Given the description of an element on the screen output the (x, y) to click on. 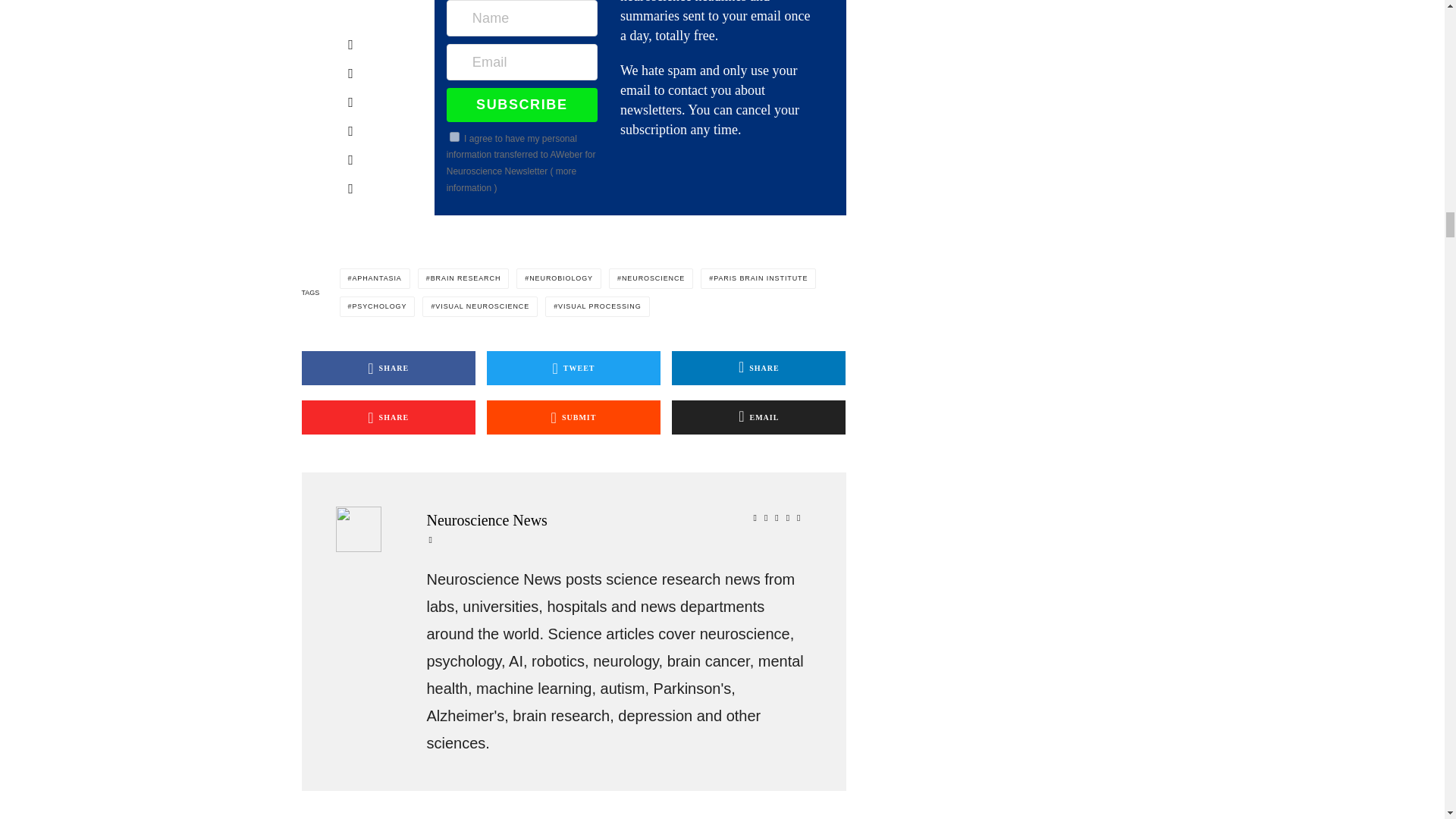
VISUAL NEUROSCIENCE (479, 306)
Neuroscience News (617, 519)
SHARE (388, 367)
NEUROBIOLOGY (558, 278)
PSYCHOLOGY (376, 306)
PARIS BRAIN INSTITUTE (757, 278)
BRAIN RESEARCH (463, 278)
VISUAL PROCESSING (596, 306)
more information (511, 179)
SUBSCRIBE (521, 104)
